Given the description of an element on the screen output the (x, y) to click on. 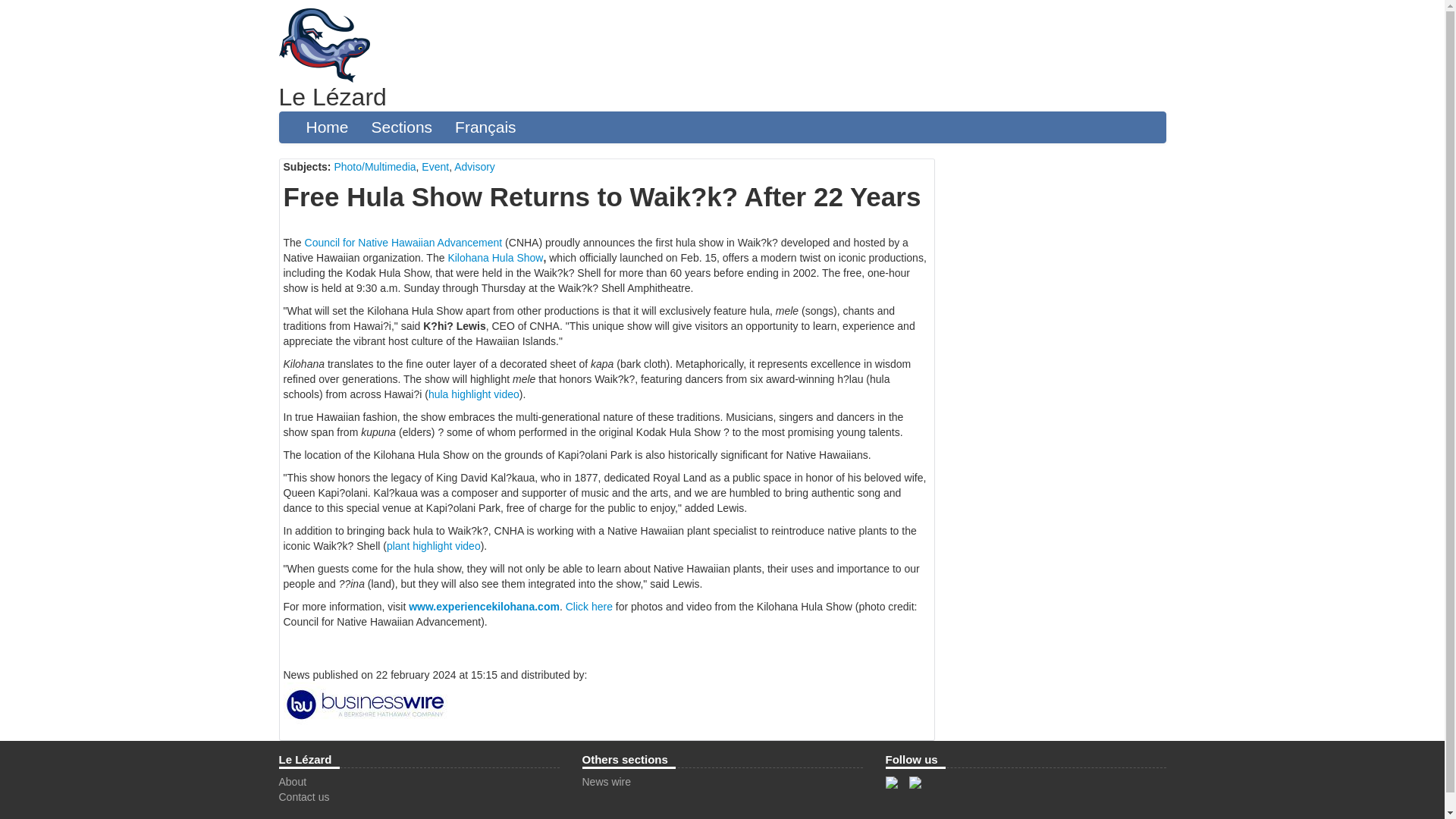
Council for Native Hawaiian Advancement (403, 242)
www.experiencekilohana.com (484, 606)
hula highlight video (473, 394)
Click here (589, 606)
Sections (401, 127)
Contact us (304, 797)
Kilohana Hula Show (494, 257)
plant highlight video (433, 545)
Event (435, 166)
Home (326, 127)
News wire (606, 781)
Advisory (474, 166)
About (293, 781)
